Given the description of an element on the screen output the (x, y) to click on. 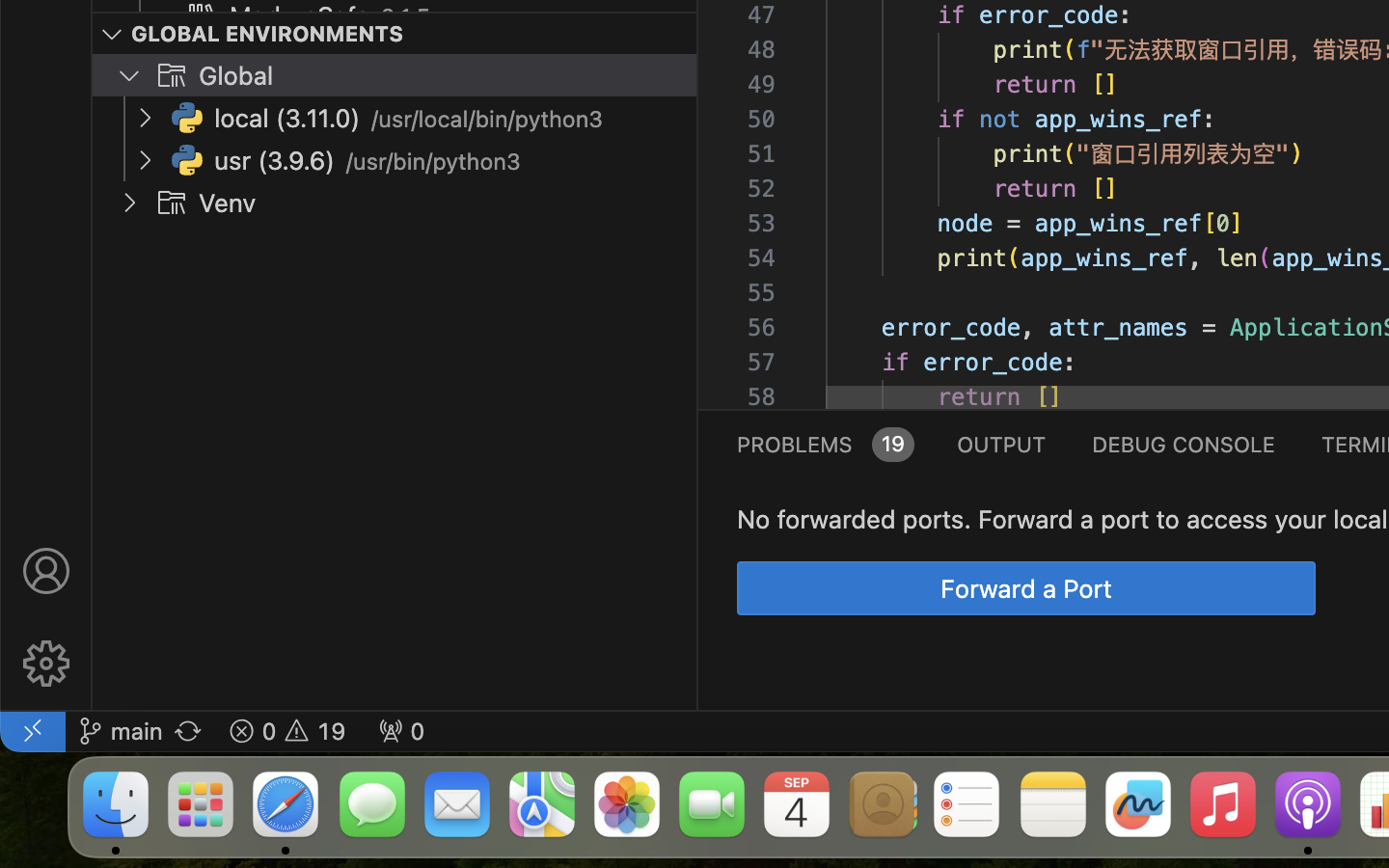
19  0  Element type: AXButton (286, 730)
 Element type: AXStaticText (46, 570)
 0 Element type: AXButton (400, 730)
0 DEBUG CONSOLE Element type: AXRadioButton (1183, 443)
Venv Element type: AXStaticText (227, 203)
